Given the description of an element on the screen output the (x, y) to click on. 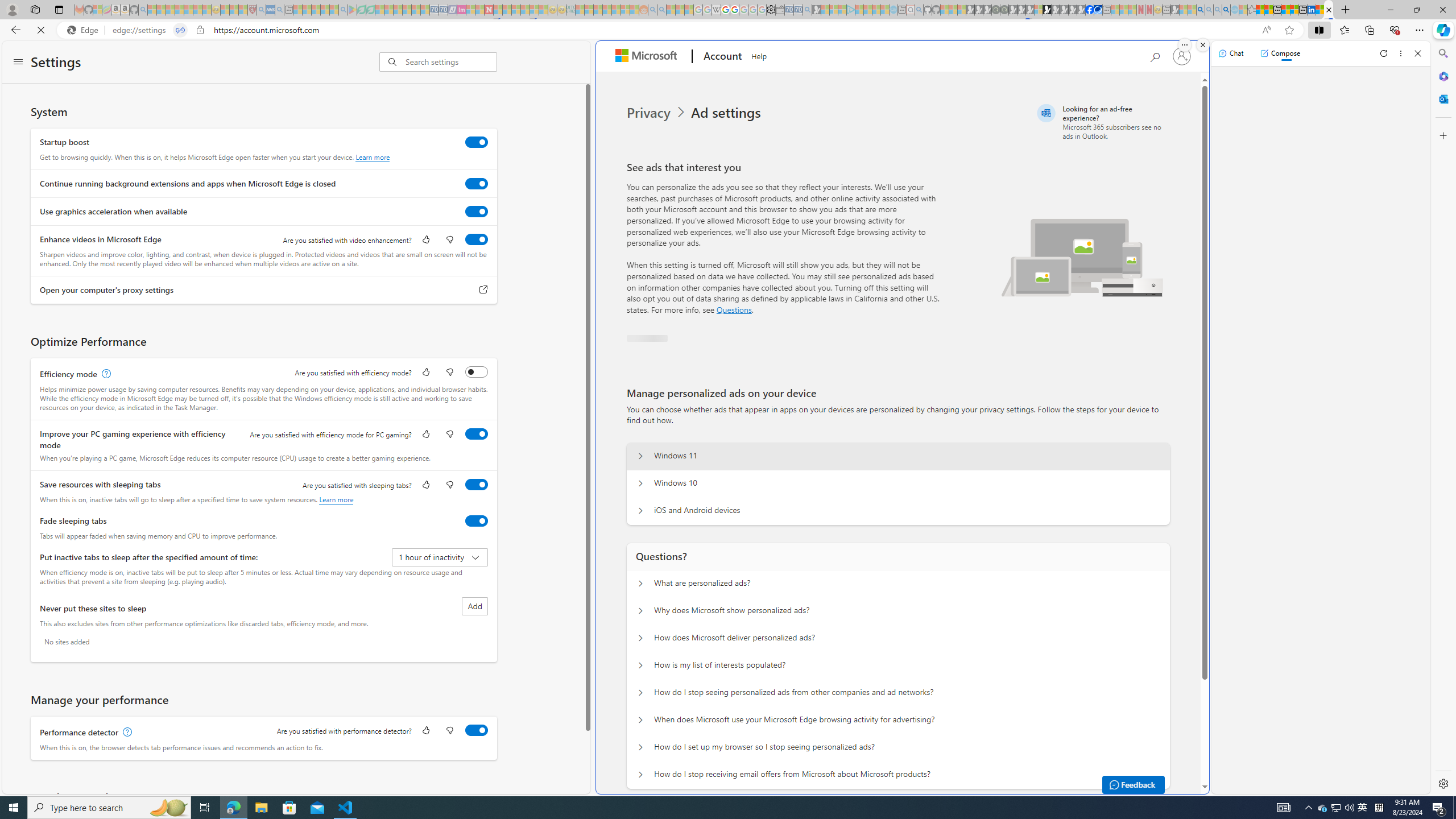
Looking for an ad-free experience? (1101, 122)
Manage personalized ads on your device Windows 11 (640, 455)
Home | Sky Blue Bikes - Sky Blue Bikes - Sleeping (892, 9)
Compose (1279, 52)
